Given the description of an element on the screen output the (x, y) to click on. 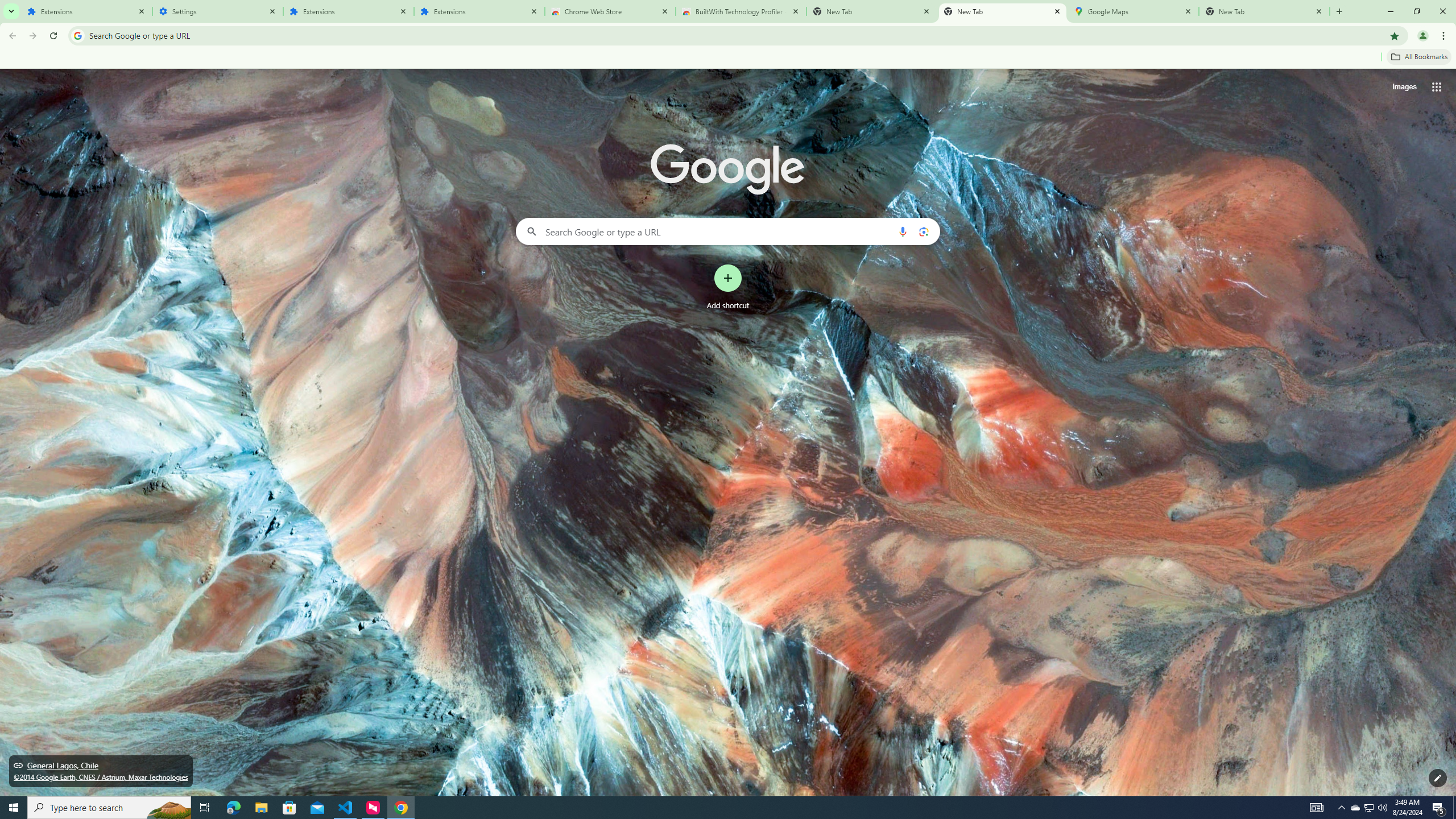
Search Google or type a URL (727, 230)
Chrome Web Store (610, 11)
